Given the description of an element on the screen output the (x, y) to click on. 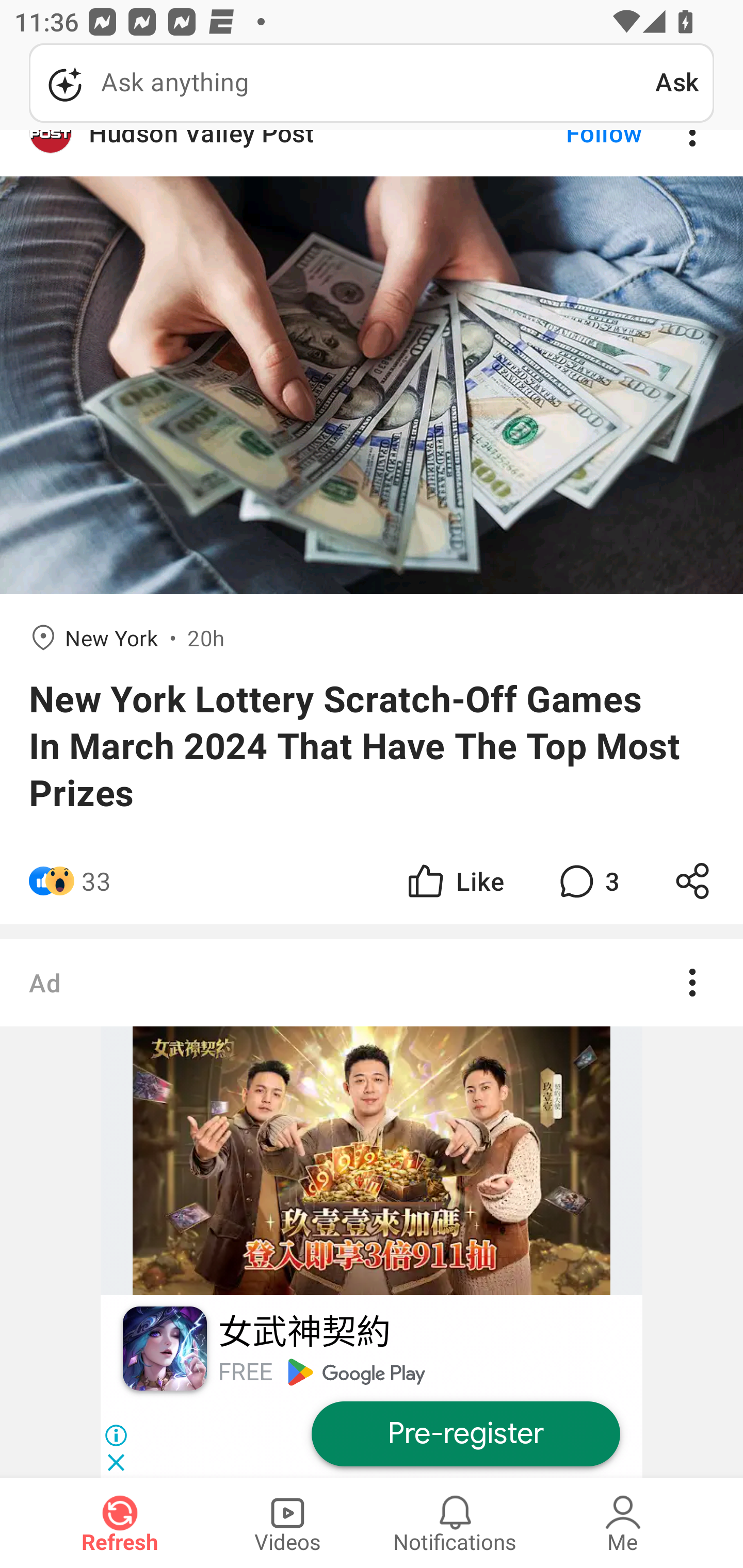
Ask anything (341, 82)
33 (95, 880)
Like (454, 880)
3 (587, 880)
女武神契約 (303, 1332)
FREE (245, 1371)
Pre-register (464, 1434)
Videos (287, 1522)
Notifications (455, 1522)
Me (622, 1522)
